Given the description of an element on the screen output the (x, y) to click on. 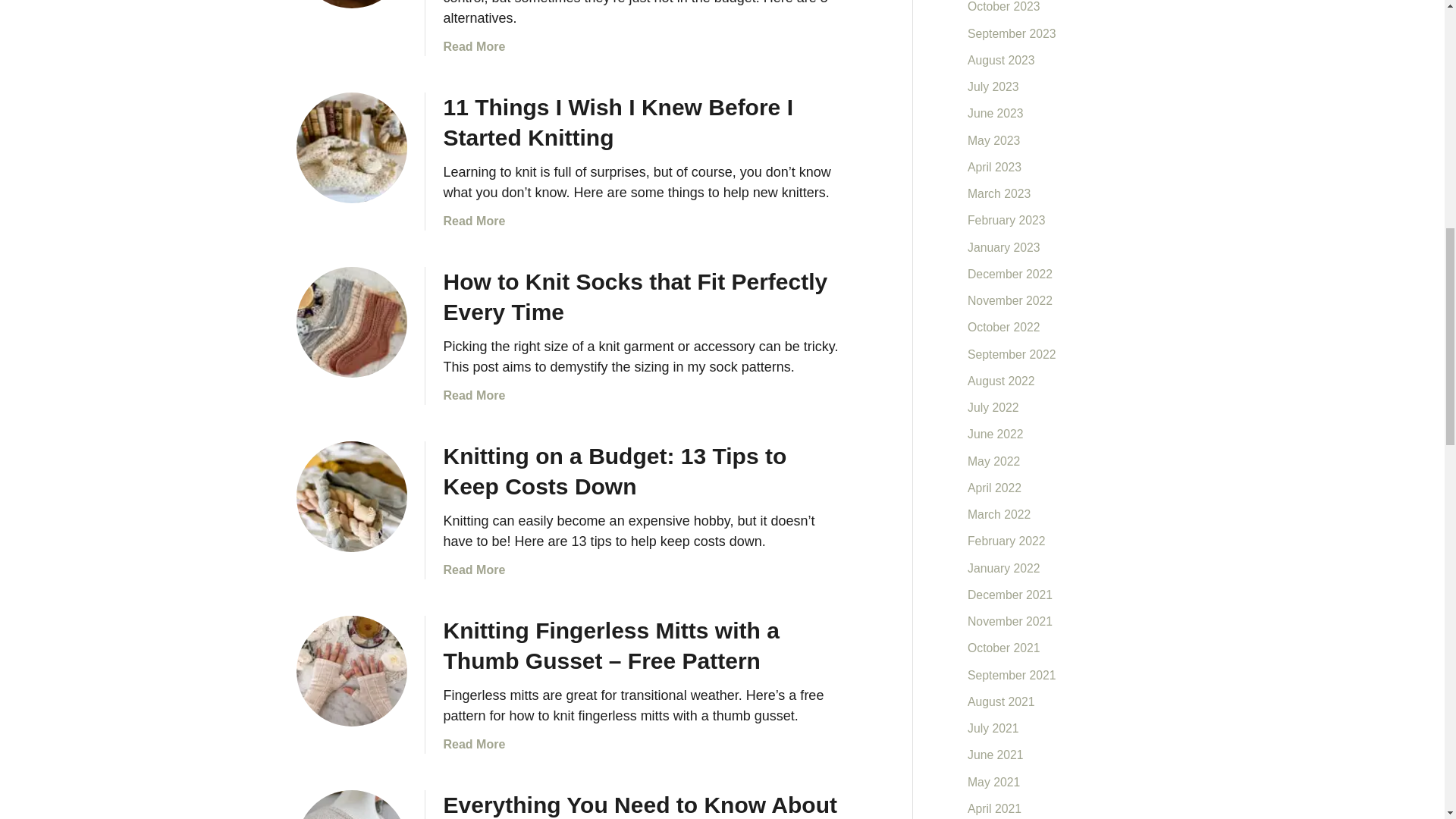
Knitting on a Budget: 13 Tips to Keep Costs Down (350, 496)
Everything You Need to Know About Knitting with Linen Yarn (638, 805)
11 Things I Wish I Knew Before I Started Knitting (617, 122)
Do You Need a Yarn Bowl for Knitting? 5 Alternatives to Try (350, 4)
11 Things I Wish I Knew Before I Started Knitting (350, 147)
Everything You Need to Know About Knitting with Linen Yarn (350, 804)
How to Knit Socks that Fit Perfectly Every Time (350, 321)
How to Knit Socks that Fit Perfectly Every Time (634, 296)
Knitting on a Budget: 13 Tips to Keep Costs Down (614, 470)
